Given the description of an element on the screen output the (x, y) to click on. 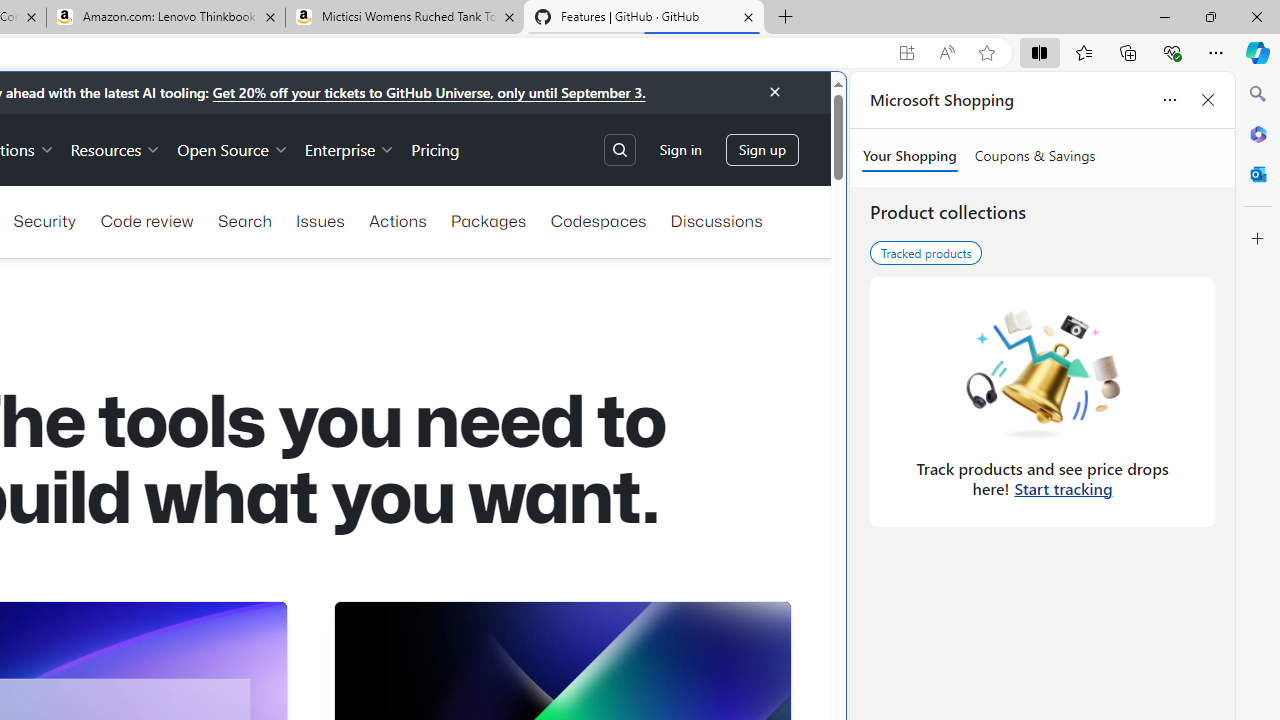
Pricing (435, 148)
Search (244, 220)
Code review (146, 220)
Open Source (232, 148)
Actions (397, 220)
Outlook (1258, 174)
Open Source (232, 148)
Enterprise (349, 148)
Security (44, 220)
